Given the description of an element on the screen output the (x, y) to click on. 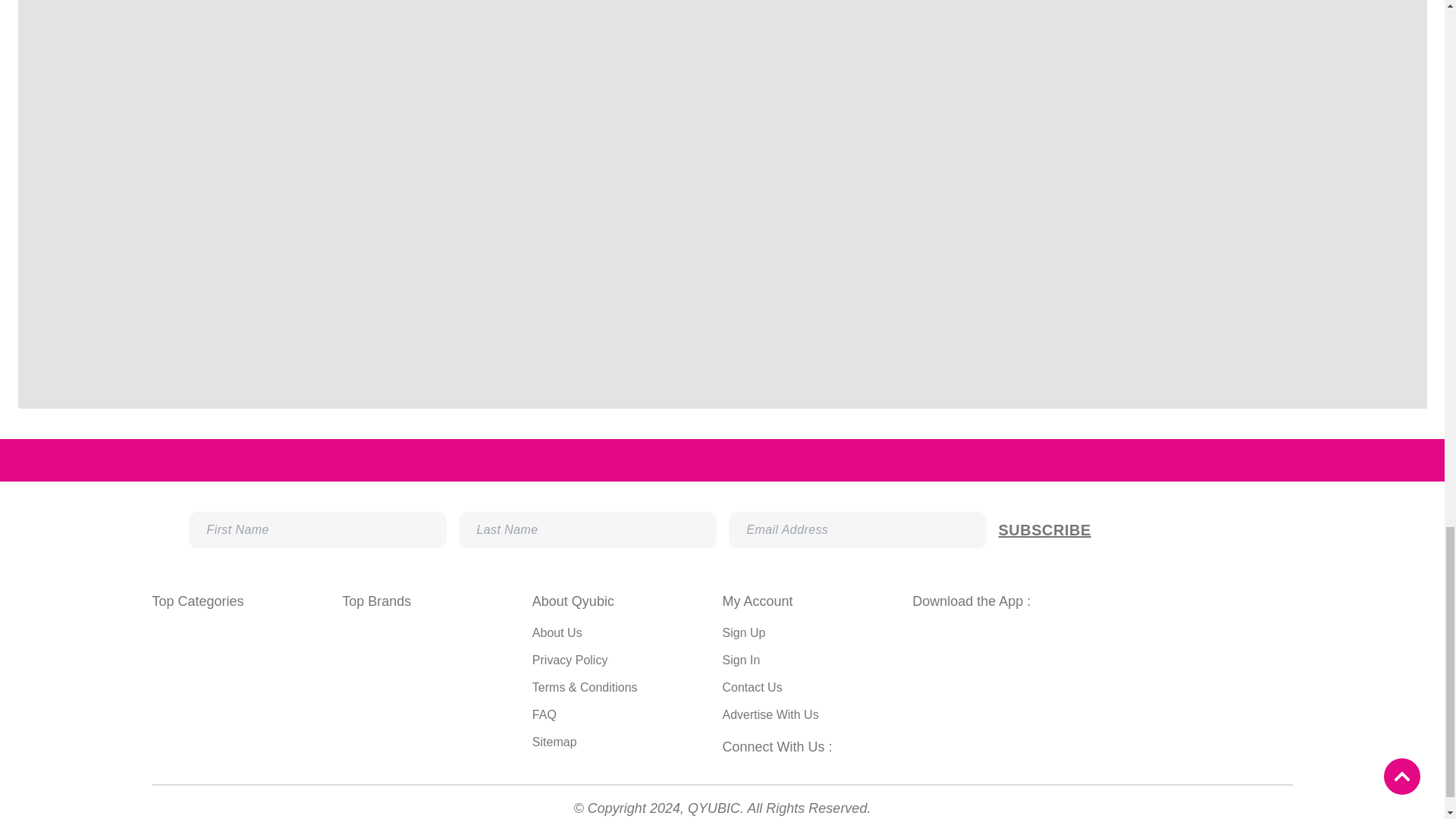
twitter icon (790, 770)
instagram icon (759, 770)
facebook icon (729, 770)
Sign Up (743, 632)
linkedin icon (820, 770)
apple app store qr code (1200, 699)
Contact Us (751, 686)
google play store qr code (1004, 696)
FAQ (544, 714)
qyubic logo (1242, 460)
Sitemap (554, 741)
Advertise With Us (770, 714)
SUBSCRIBE (1126, 529)
About Us (557, 632)
Sign In (741, 659)
